Given the description of an element on the screen output the (x, y) to click on. 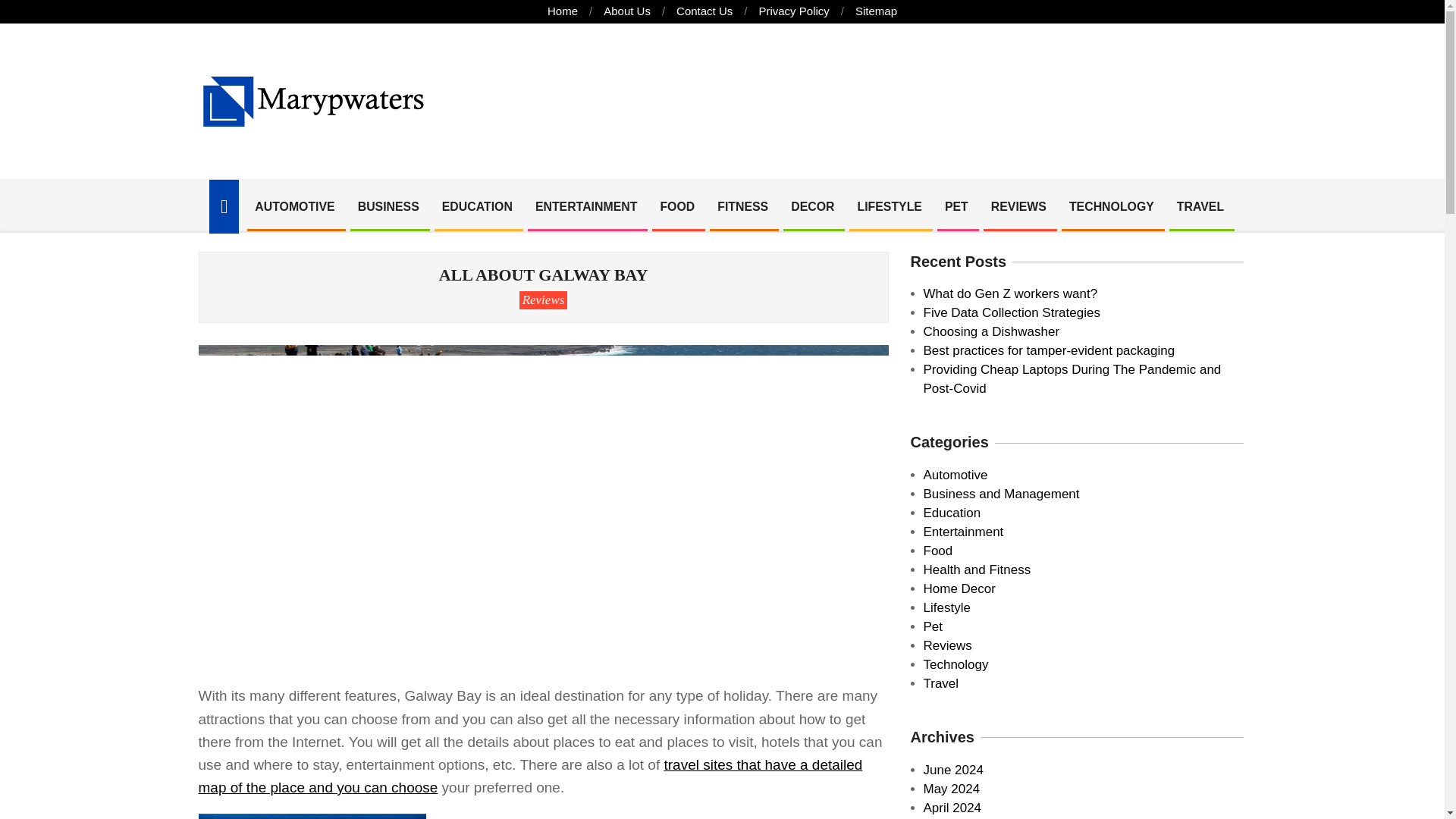
Privacy Policy (793, 10)
EDUCATION (477, 206)
About Us (627, 10)
AUTOMOTIVE (294, 206)
Providing Cheap Laptops During The Pandemic and Post-Covid (1072, 378)
TRAVEL (1200, 206)
Reviews (543, 300)
Contact Us (704, 10)
PET (956, 206)
LIFESTYLE (889, 206)
Education (952, 513)
What do Gen Z workers want? (1010, 293)
FITNESS (742, 206)
Choosing a Dishwasher (991, 331)
